Given the description of an element on the screen output the (x, y) to click on. 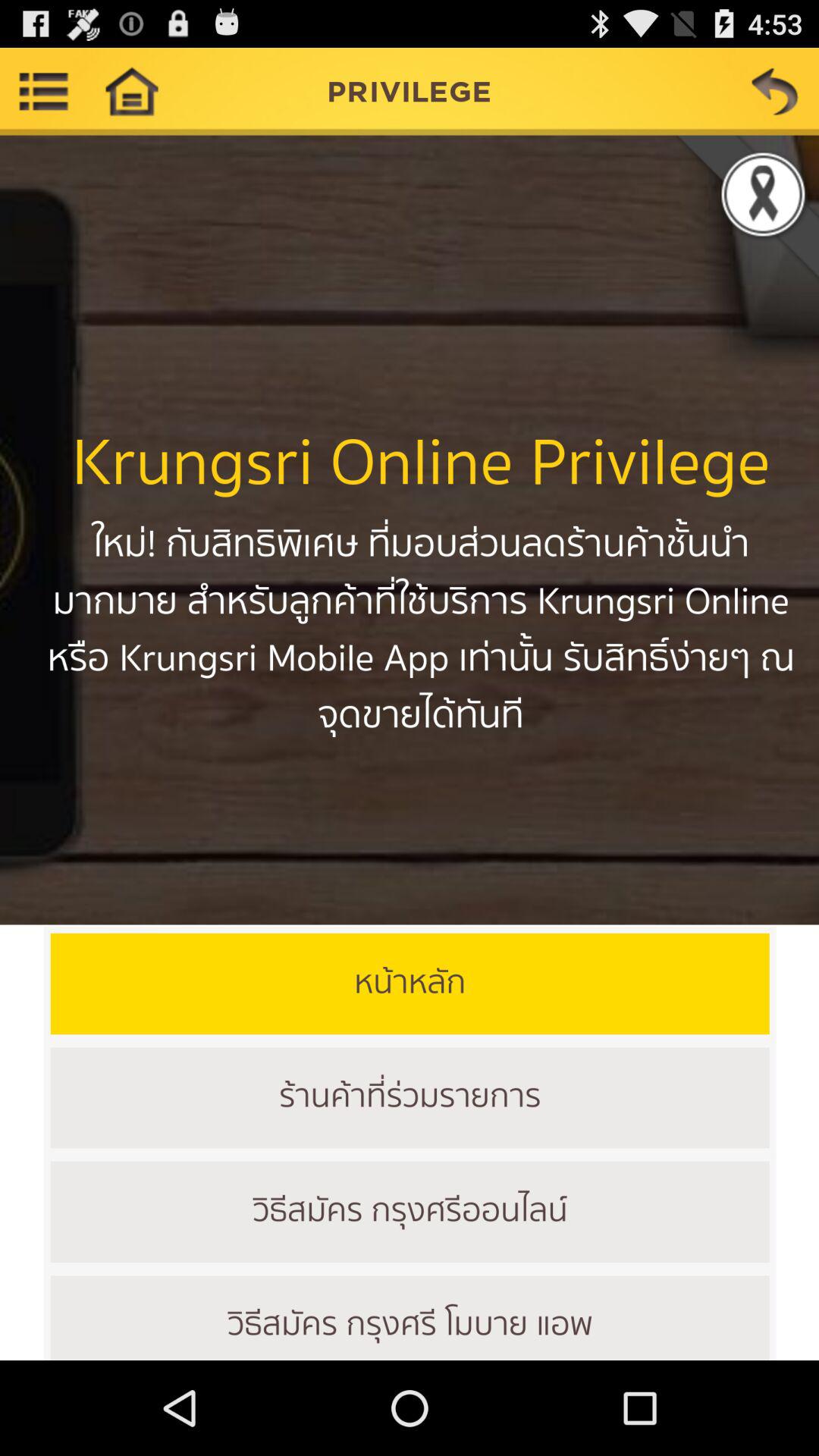
menu button (43, 91)
